Given the description of an element on the screen output the (x, y) to click on. 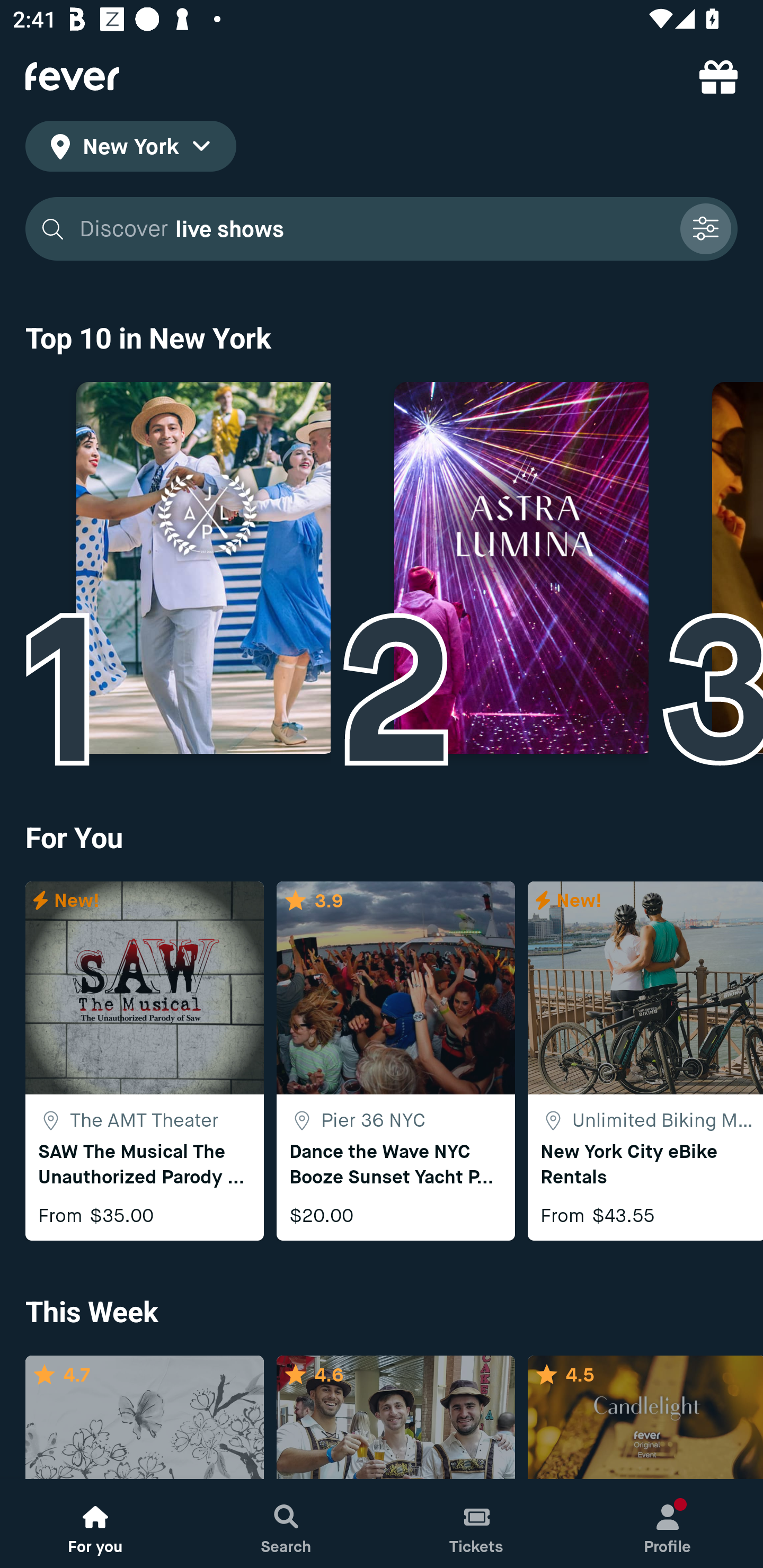
referral (718, 75)
location icon New York location icon (130, 149)
Discover live shows (381, 228)
Discover live shows (373, 228)
cover image 50.0 4.7 (144, 1417)
cover image 50.0 4.6 (395, 1417)
cover image 50.0 4.5 Fever exclusive (645, 1417)
Search (285, 1523)
Tickets (476, 1523)
Profile, New notification Profile (667, 1523)
